Given the description of an element on the screen output the (x, y) to click on. 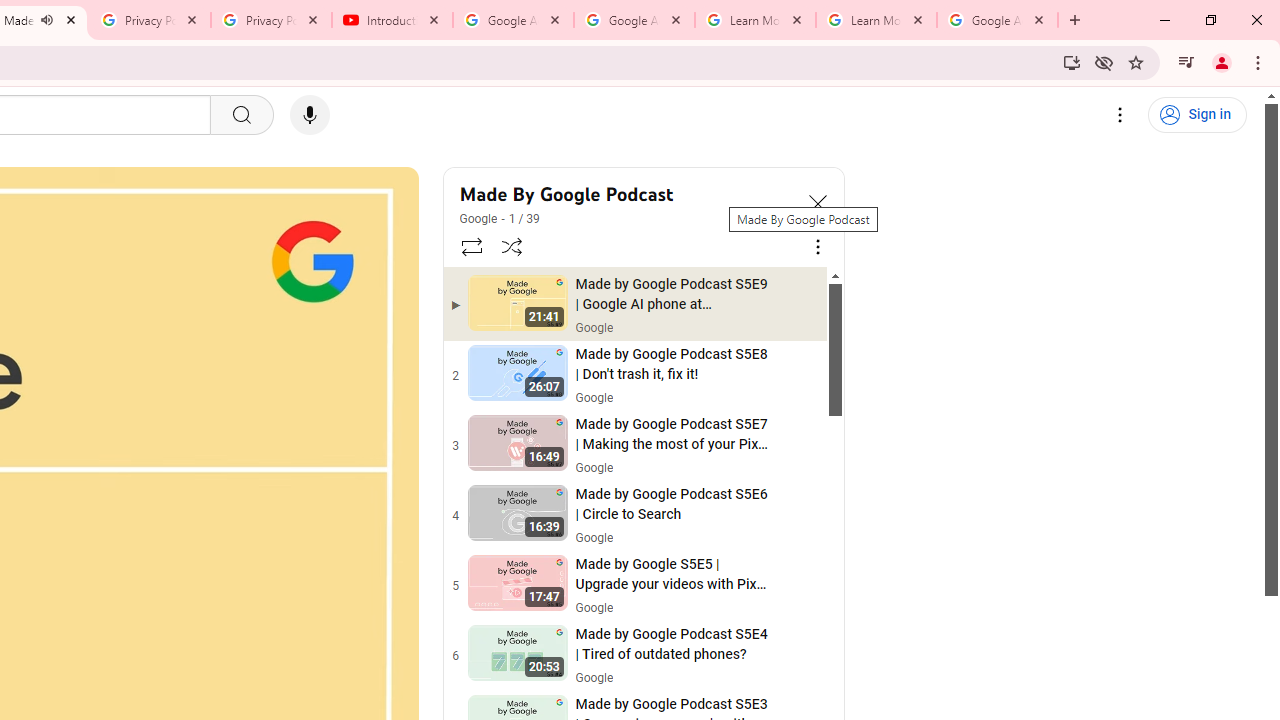
Install YouTube (1071, 62)
Introduction | Google Privacy Policy - YouTube (392, 20)
